Given the description of an element on the screen output the (x, y) to click on. 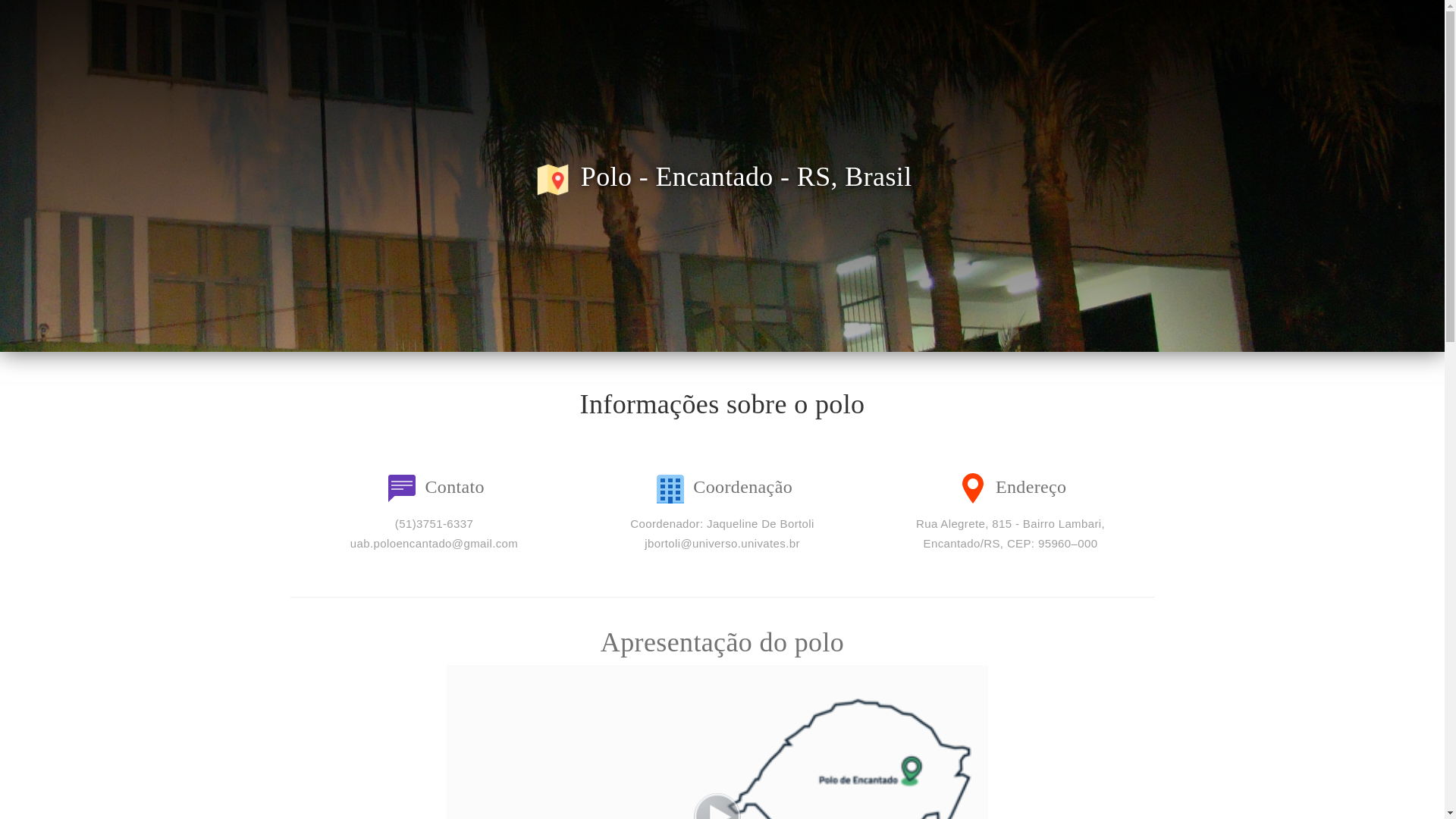
Polo - Encantado - RS, Brasil Element type: text (722, 175)
